Given the description of an element on the screen output the (x, y) to click on. 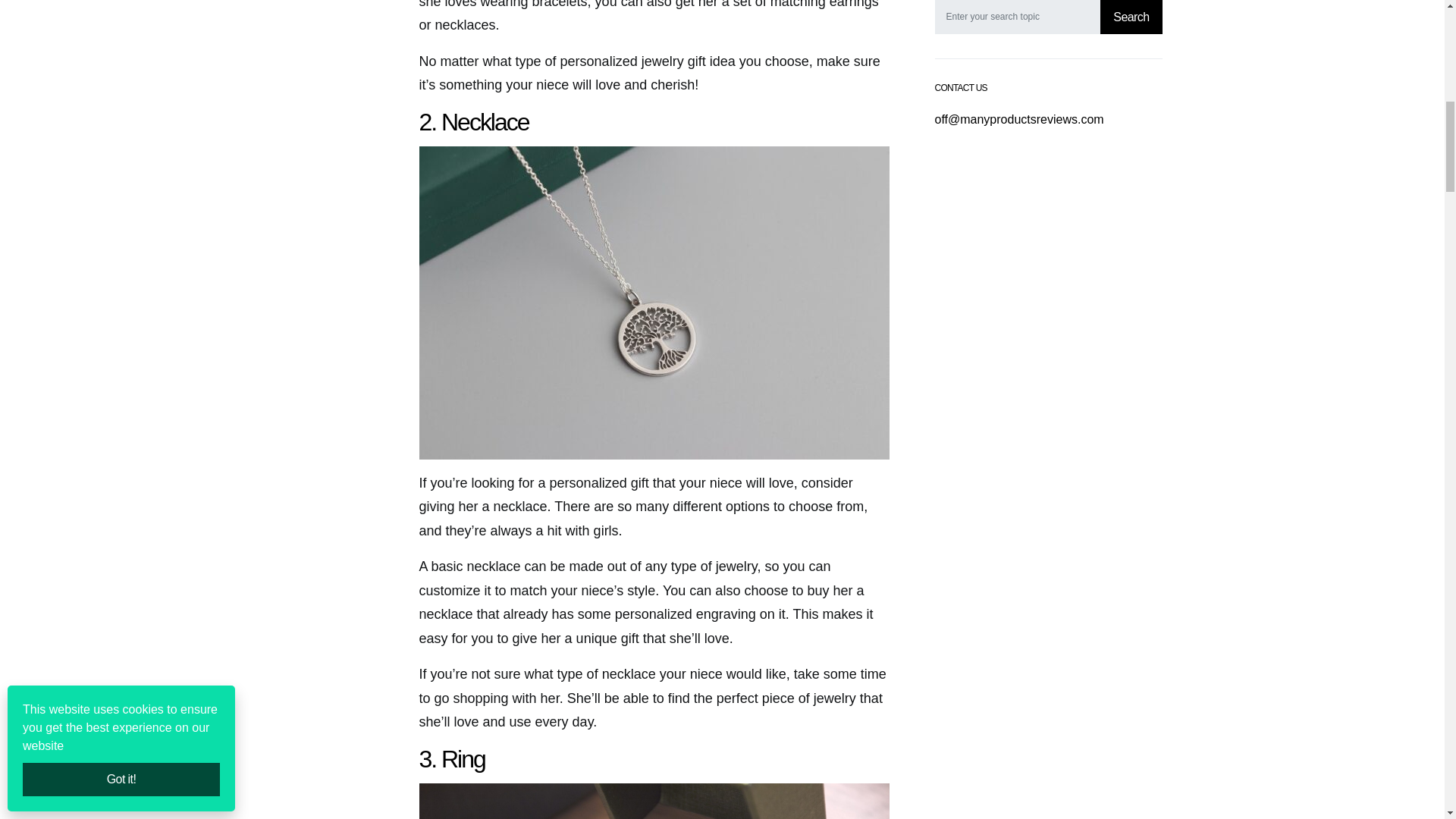
9 Personalized Jewelry Gift Ideas for your Niece (653, 800)
